Given the description of an element on the screen output the (x, y) to click on. 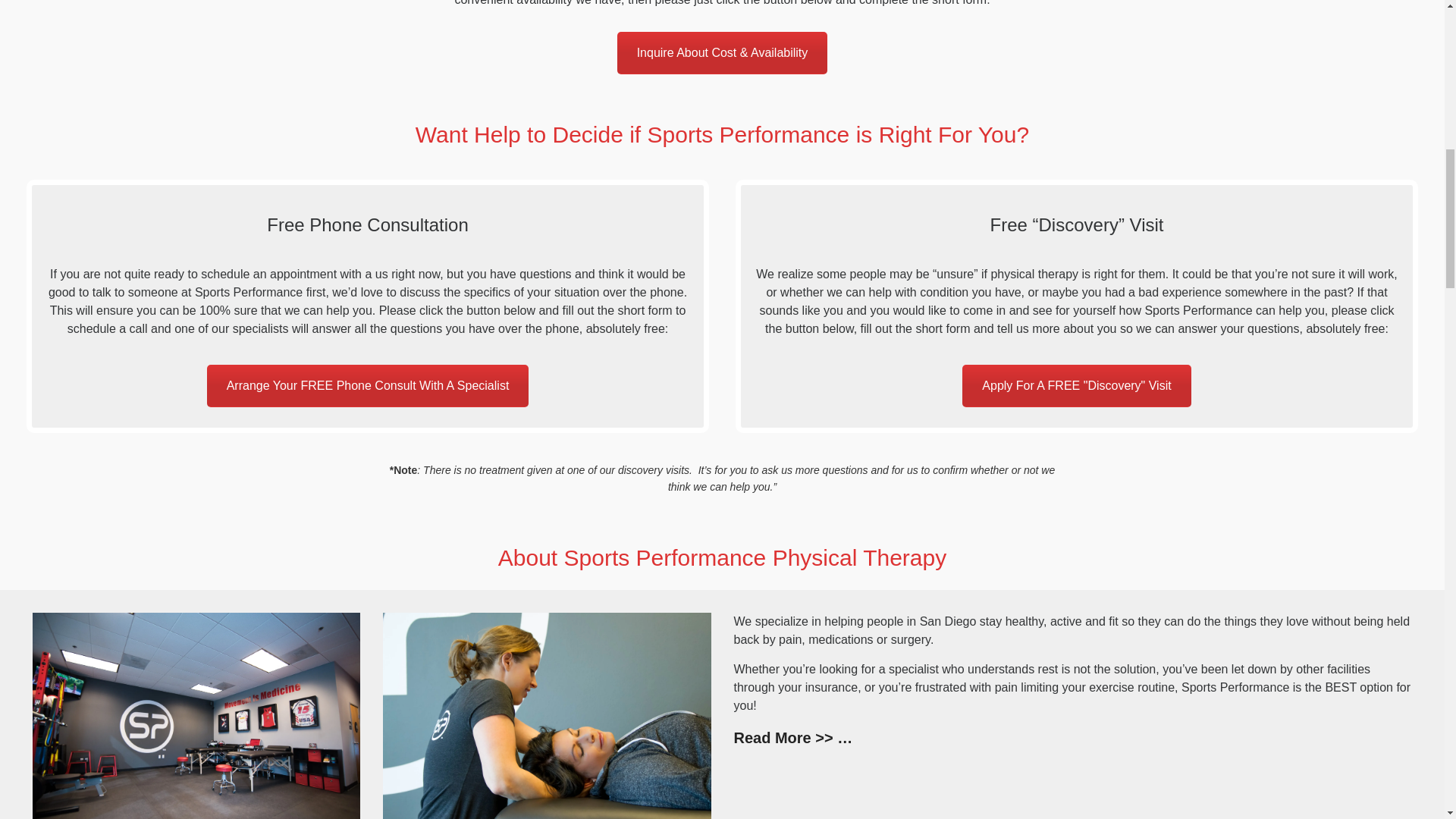
Physical Therapy In Chula Vista, CA (195, 715)
